Given the description of an element on the screen output the (x, y) to click on. 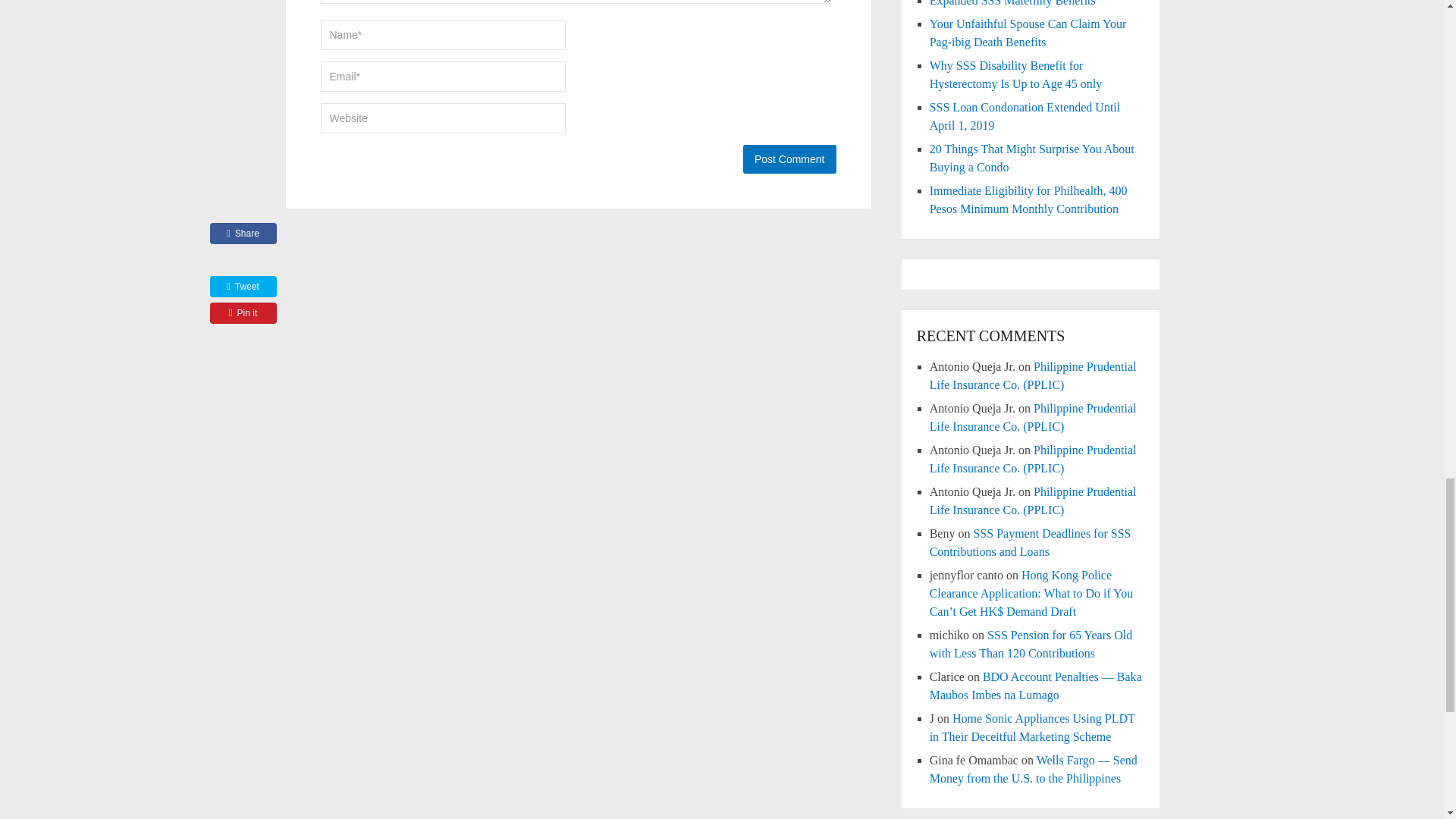
Expanded SSS Maternity Benefits (1013, 3)
Post Comment (788, 158)
Post Comment (788, 158)
SSS Loan Condonation Extended Until April 1, 2019 (1025, 115)
